Given the description of an element on the screen output the (x, y) to click on. 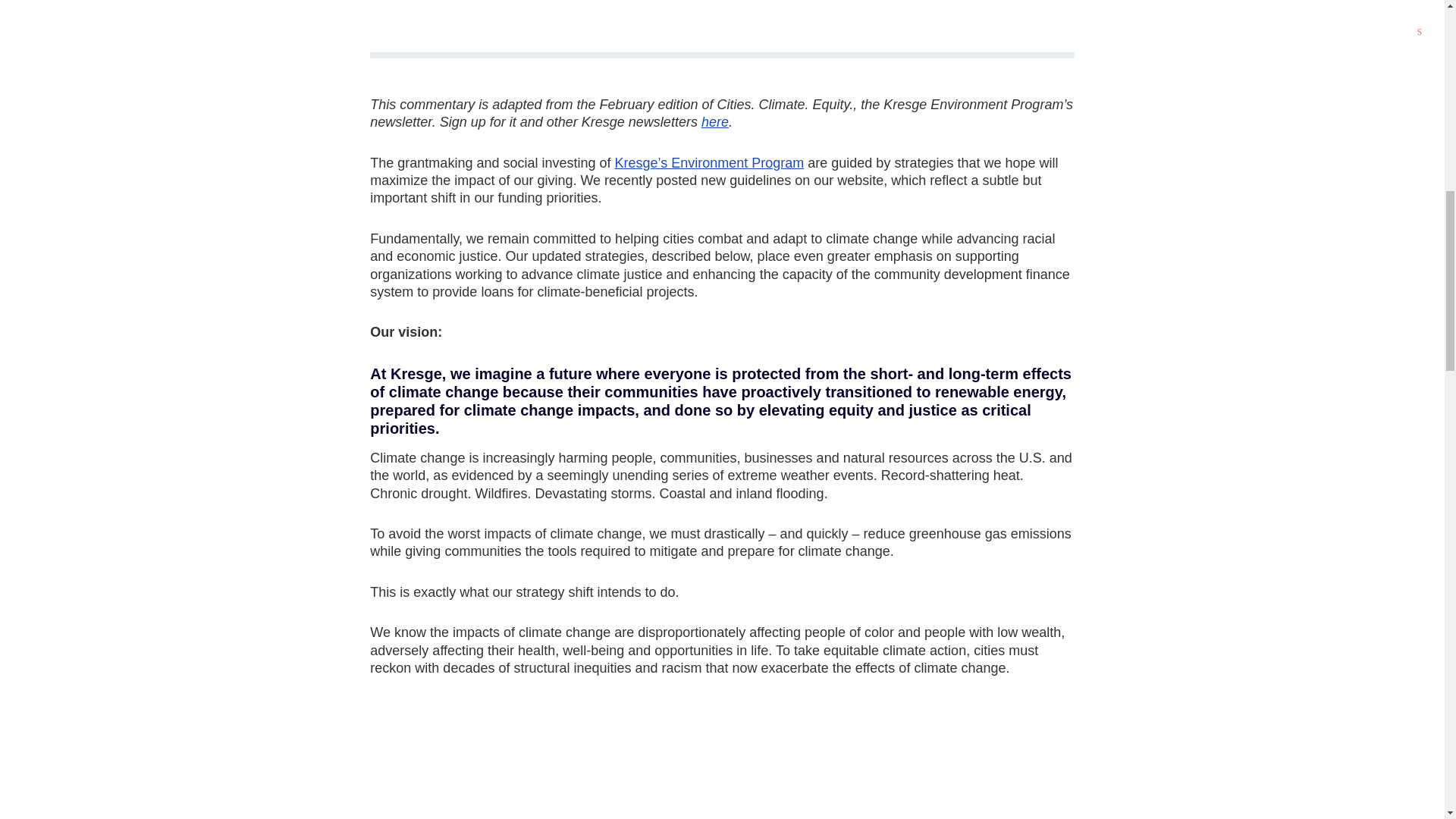
Kresge Environment Program Overview Video (721, 761)
